Given the description of an element on the screen output the (x, y) to click on. 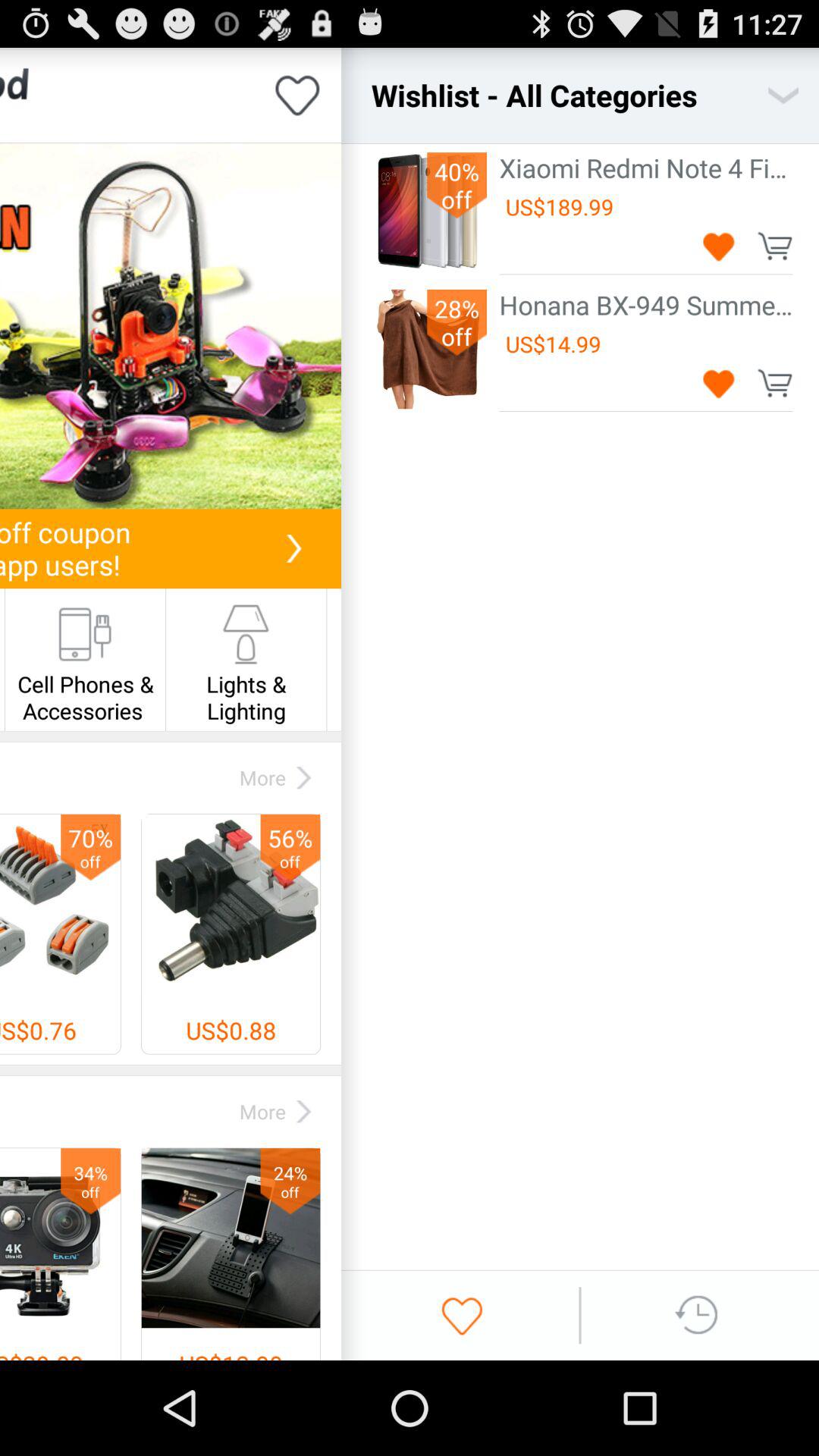
scroll to xiaomi redmi note app (645, 167)
